Given the description of an element on the screen output the (x, y) to click on. 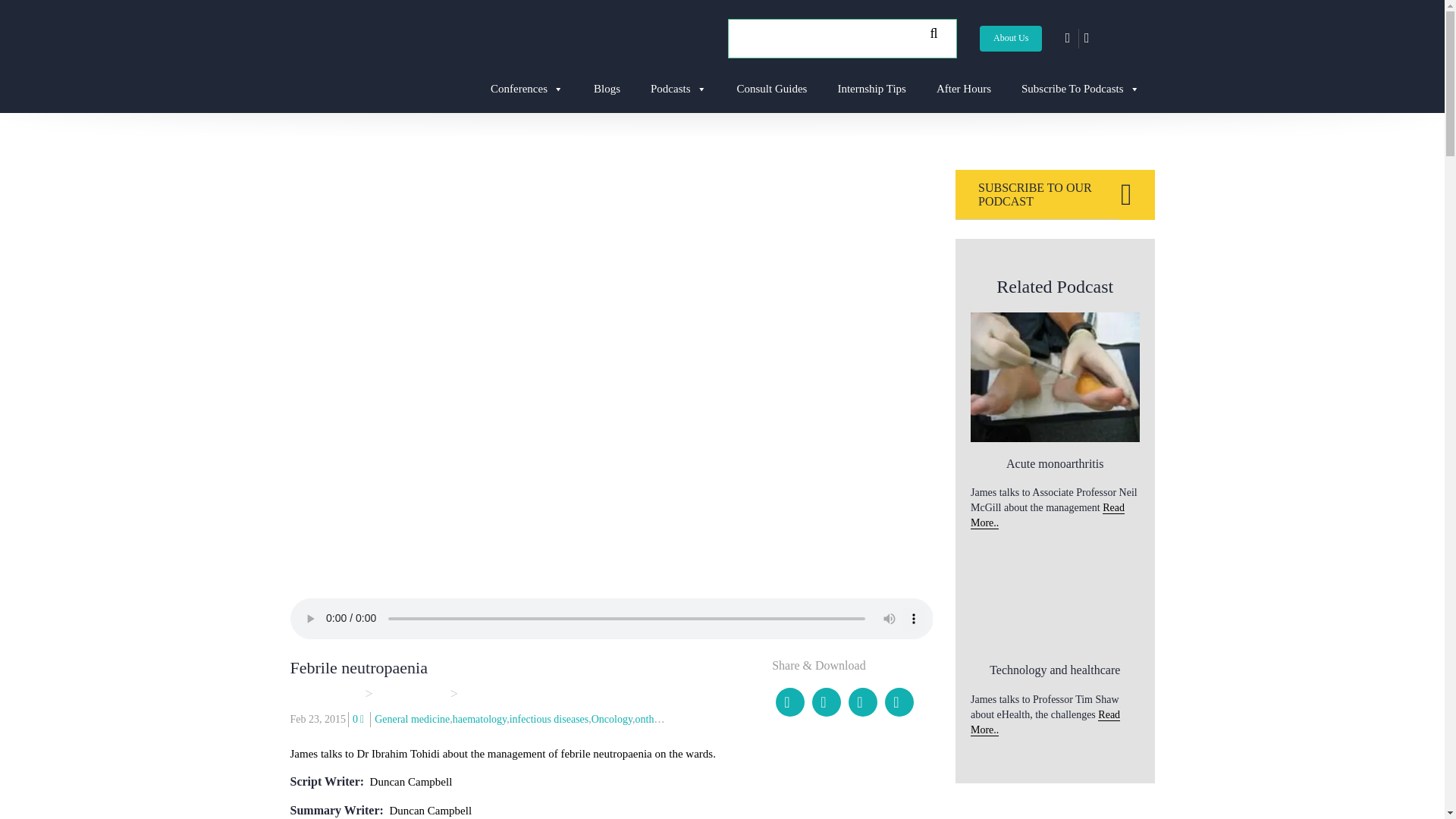
Conferences (527, 88)
Homepage (325, 693)
Blogs (606, 88)
About Us (1010, 37)
Podcasts (678, 88)
About Us (1010, 38)
